Given the description of an element on the screen output the (x, y) to click on. 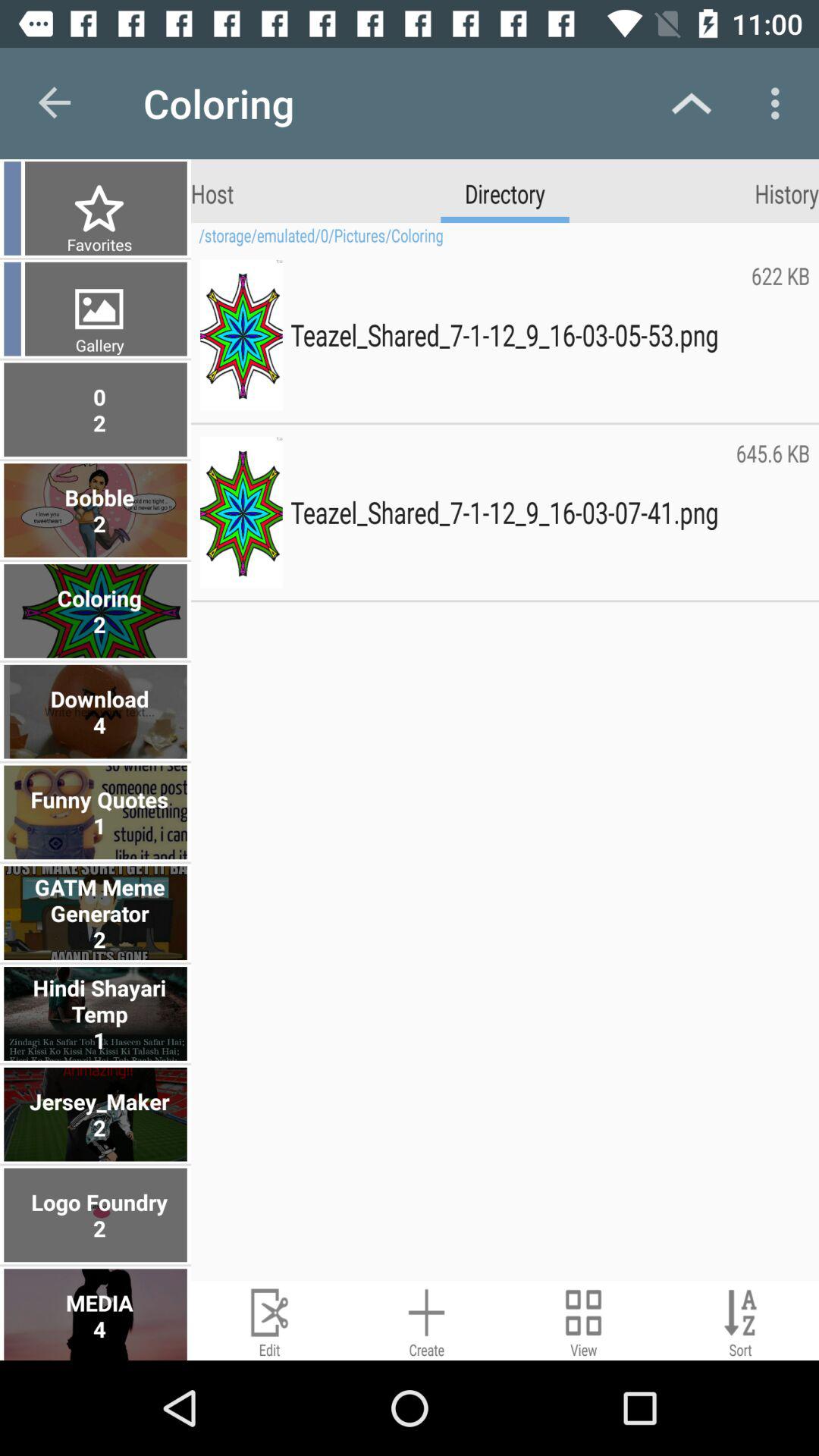
swipe to the logo foundry
2 item (97, 1215)
